Given the description of an element on the screen output the (x, y) to click on. 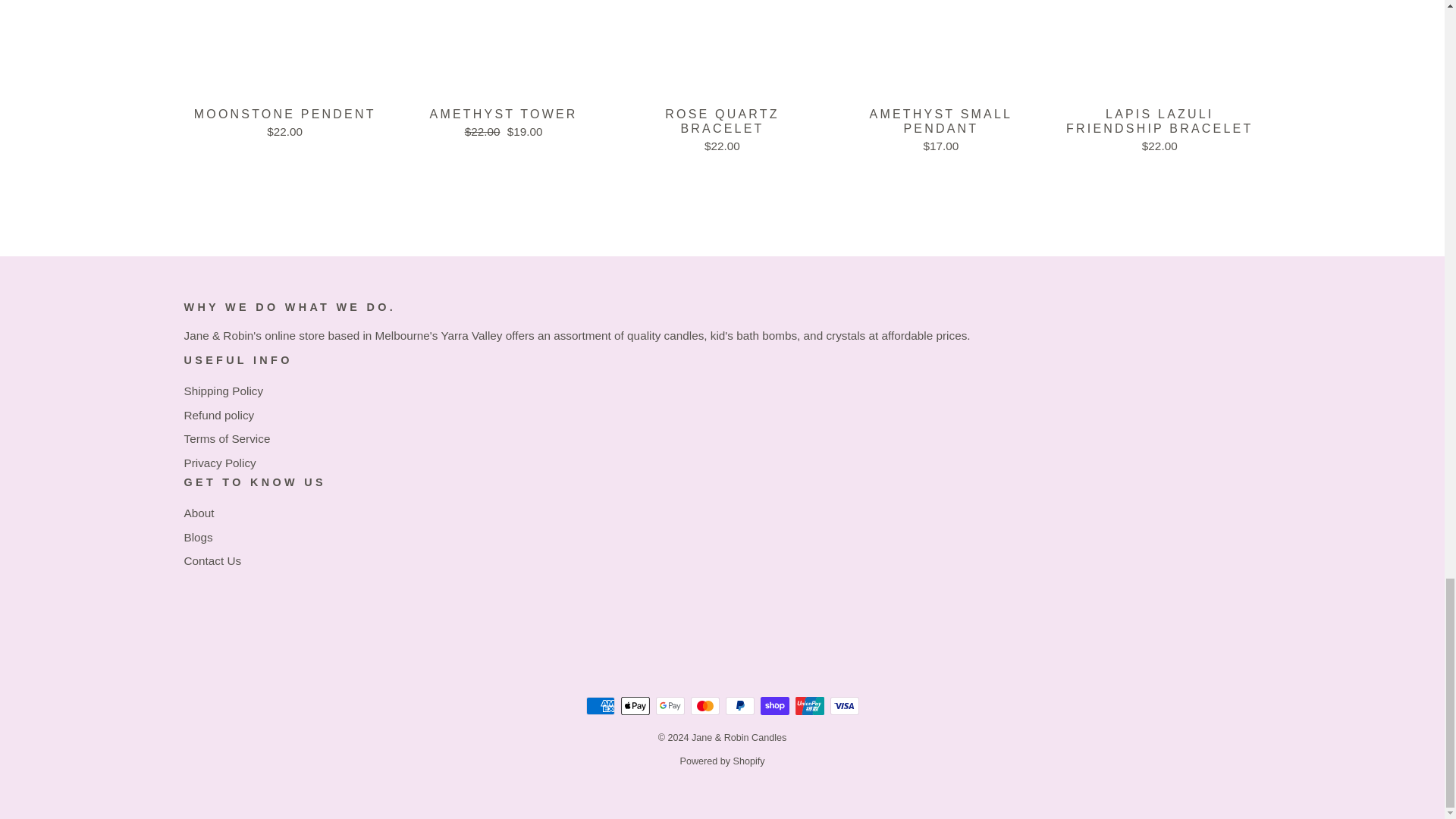
Visa (844, 705)
Google Pay (669, 705)
Union Pay (809, 705)
Mastercard (704, 705)
Apple Pay (634, 705)
American Express (599, 705)
PayPal (739, 705)
Shop Pay (774, 705)
